Given the description of an element on the screen output the (x, y) to click on. 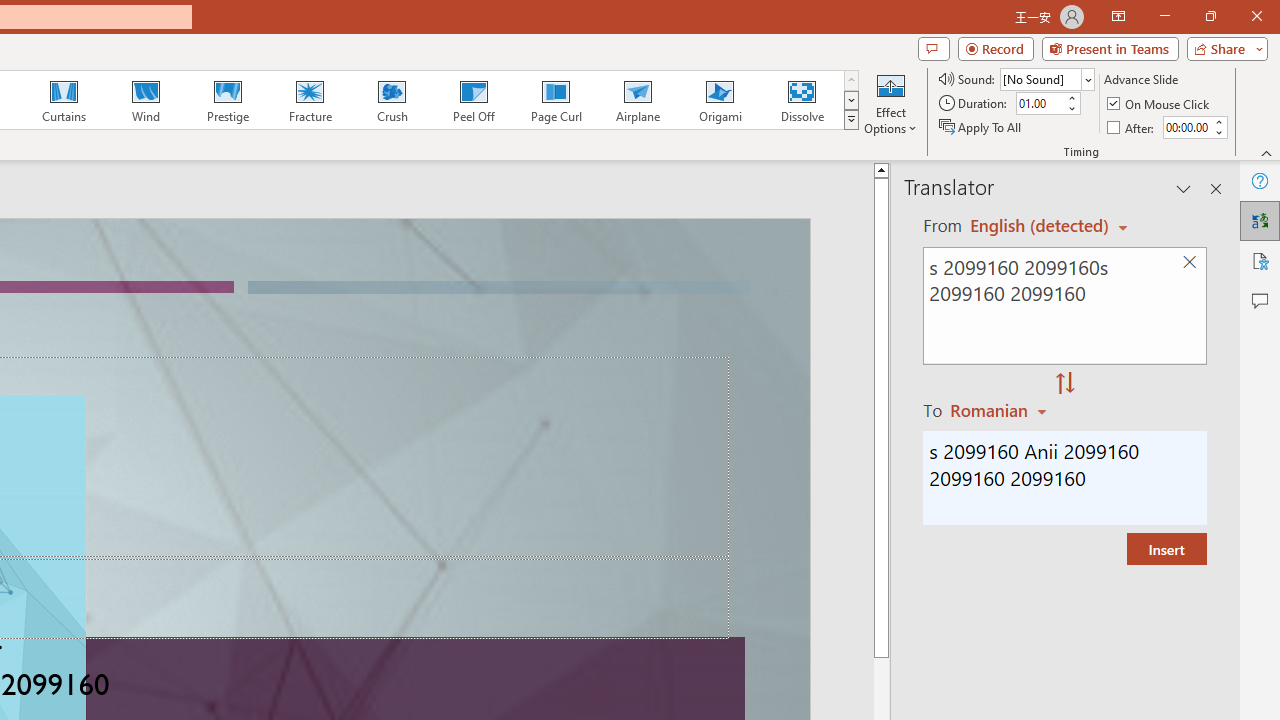
Fracture (309, 100)
Origami (719, 100)
Duration (1039, 103)
Apply To All (981, 126)
Curtains (63, 100)
